Given the description of an element on the screen output the (x, y) to click on. 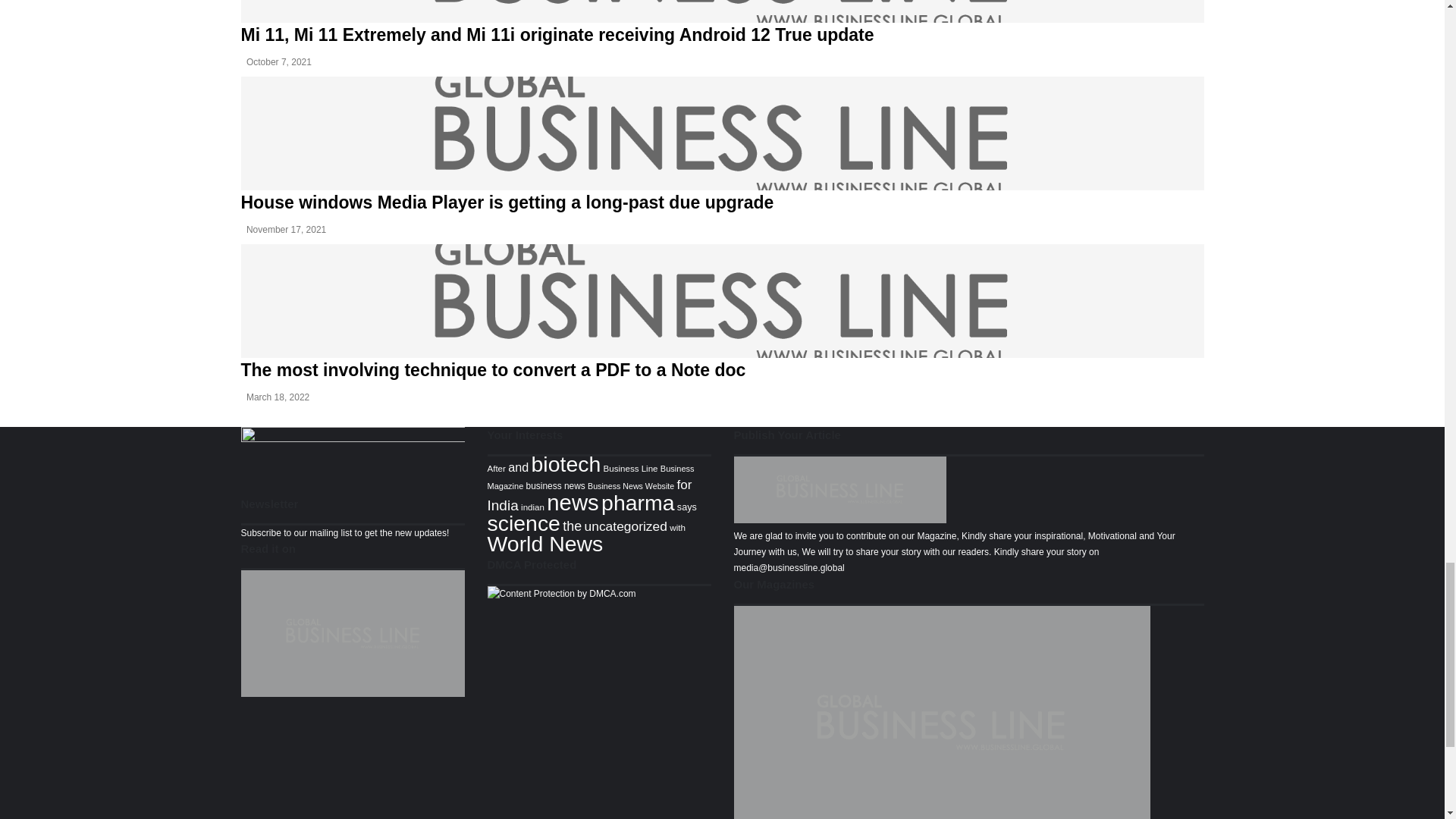
Content Protection by DMCA.com (560, 593)
